Given the description of an element on the screen output the (x, y) to click on. 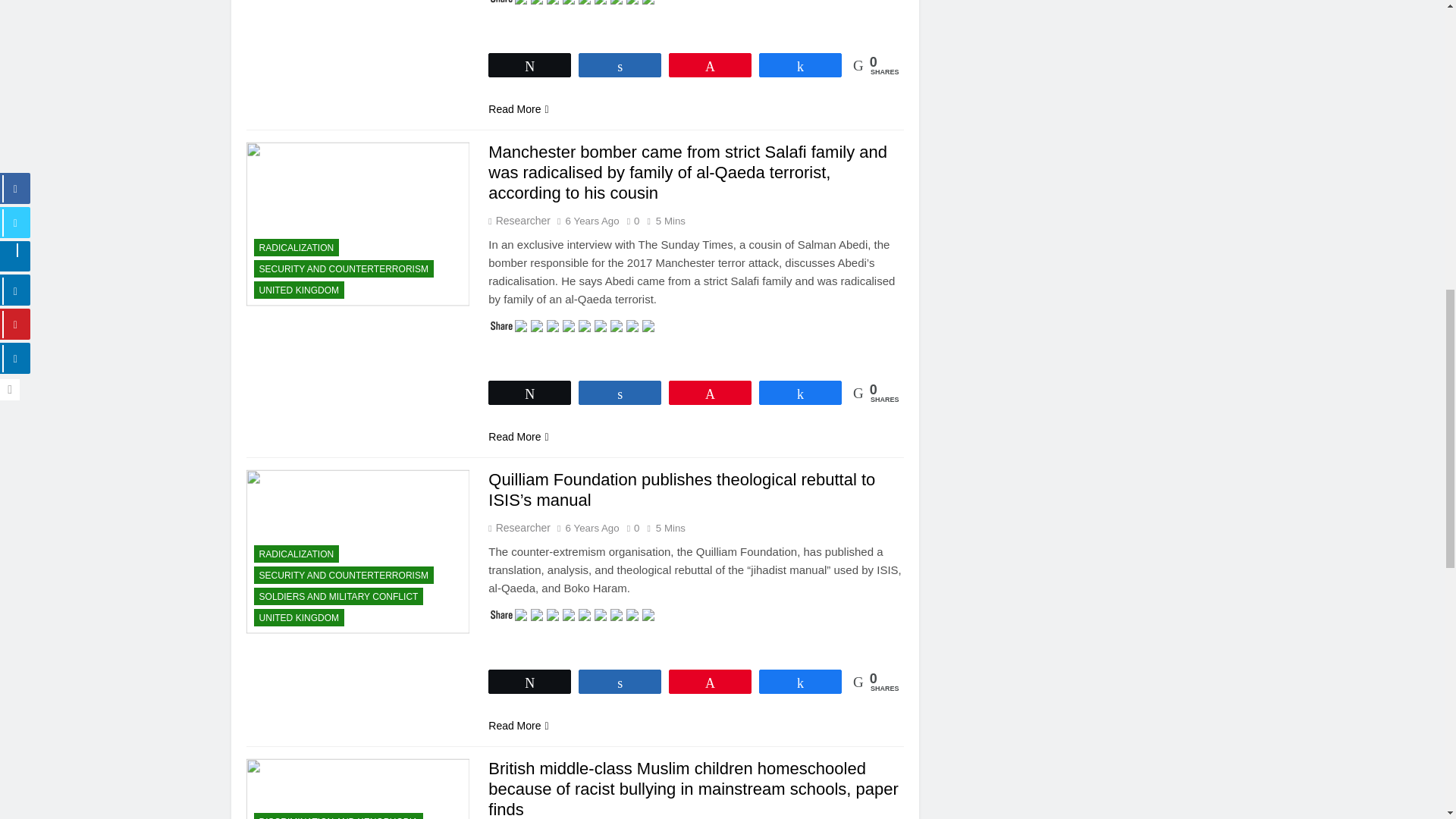
Twitter (523, 2)
